Given the description of an element on the screen output the (x, y) to click on. 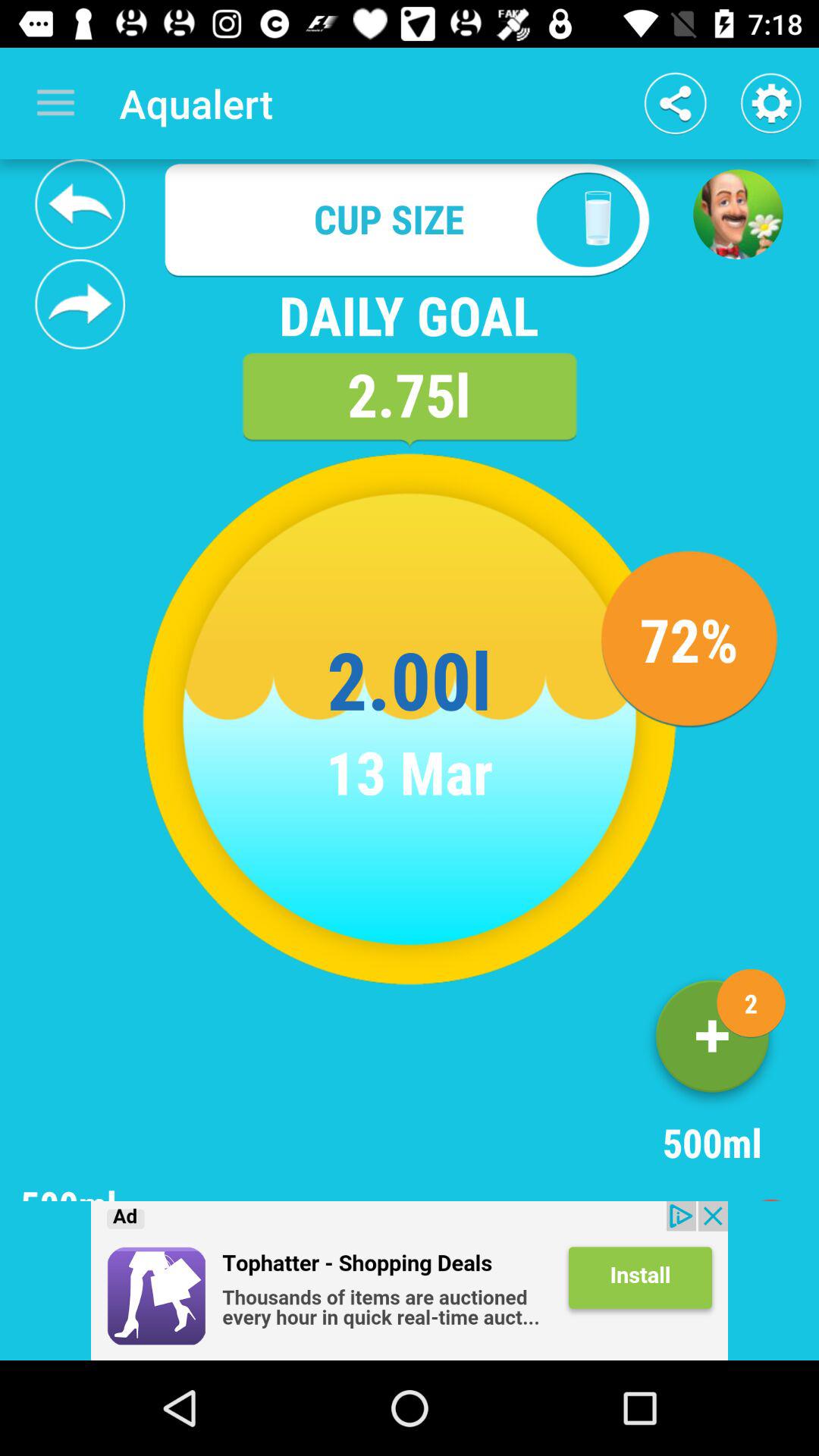
go back (80, 204)
